Given the description of an element on the screen output the (x, y) to click on. 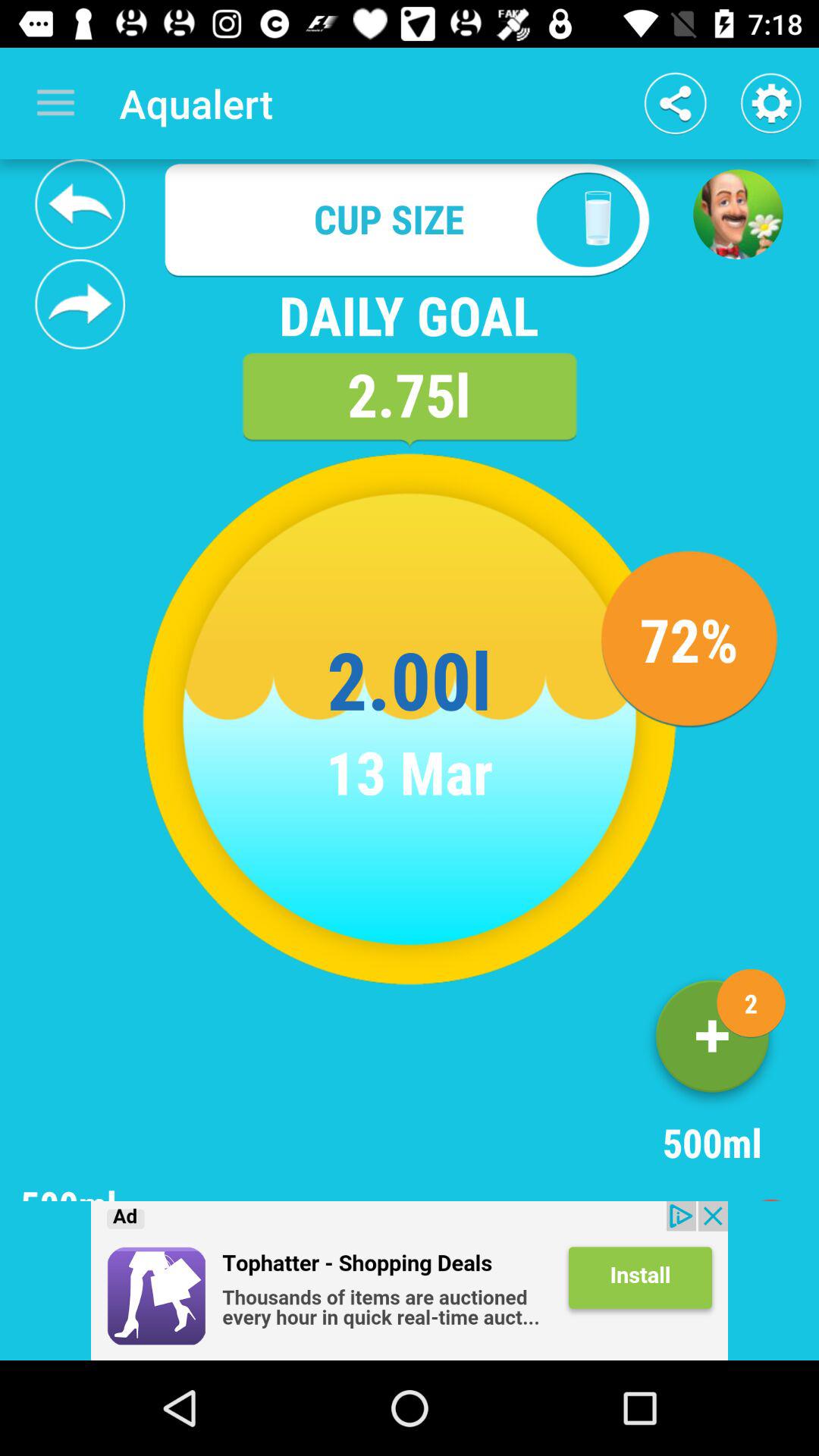
go back (80, 204)
